Given the description of an element on the screen output the (x, y) to click on. 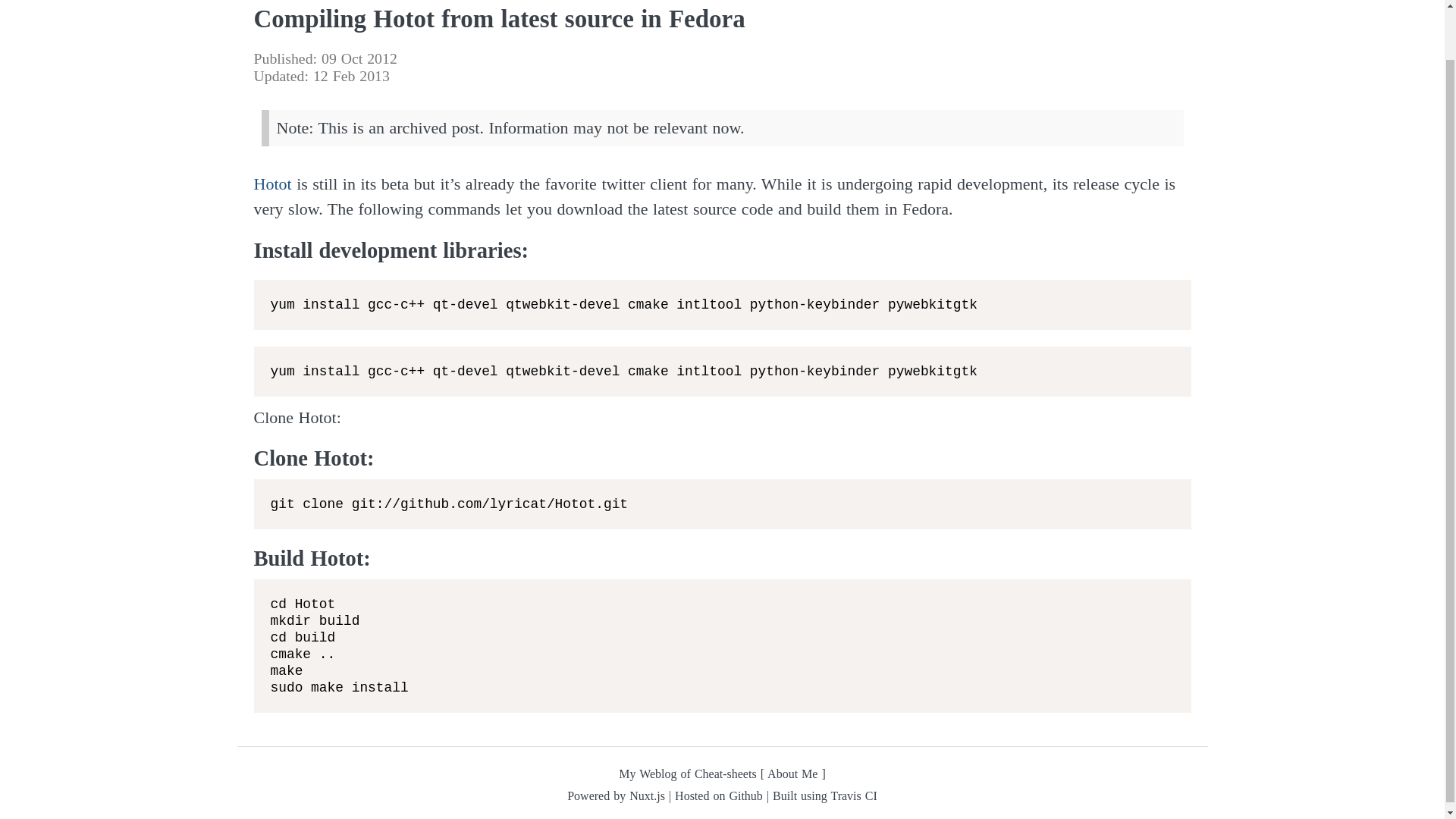
Travis CI (852, 795)
About Me (792, 773)
Github (745, 795)
Hotot (272, 183)
Nuxt.js (646, 795)
Hotot (272, 183)
